Given the description of an element on the screen output the (x, y) to click on. 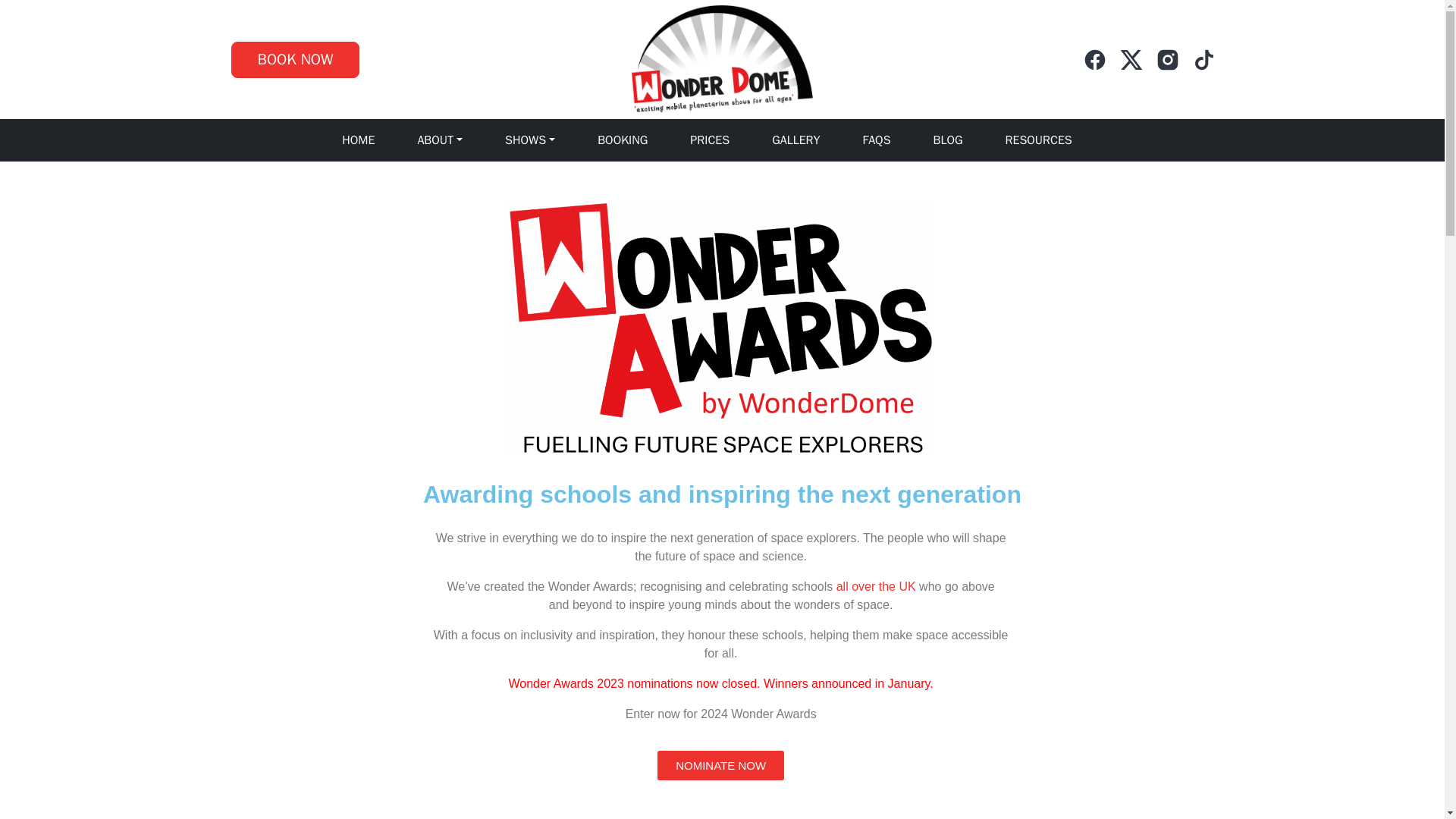
all over the UK (875, 585)
BLOG (948, 140)
HOME (358, 140)
GALLERY (795, 140)
PRICES (709, 140)
RESOURCES (1038, 140)
SHOWS (529, 140)
ABOUT (439, 140)
BOOKING (622, 140)
BOOK NOW (294, 58)
